Given the description of an element on the screen output the (x, y) to click on. 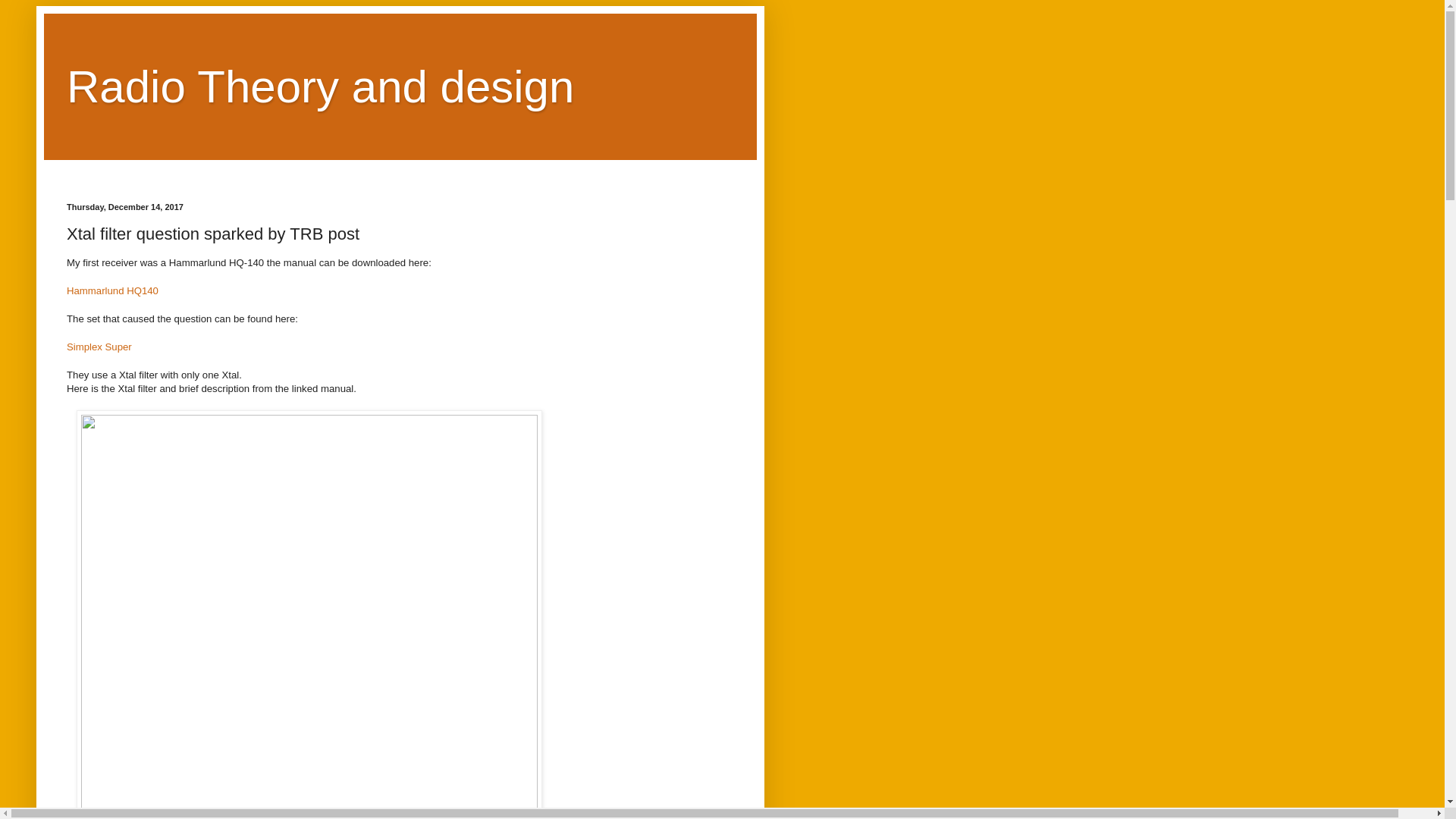
Radio Theory and design (319, 86)
Hammarlund HQ140 (112, 290)
Simplex Super (99, 346)
